Given the description of an element on the screen output the (x, y) to click on. 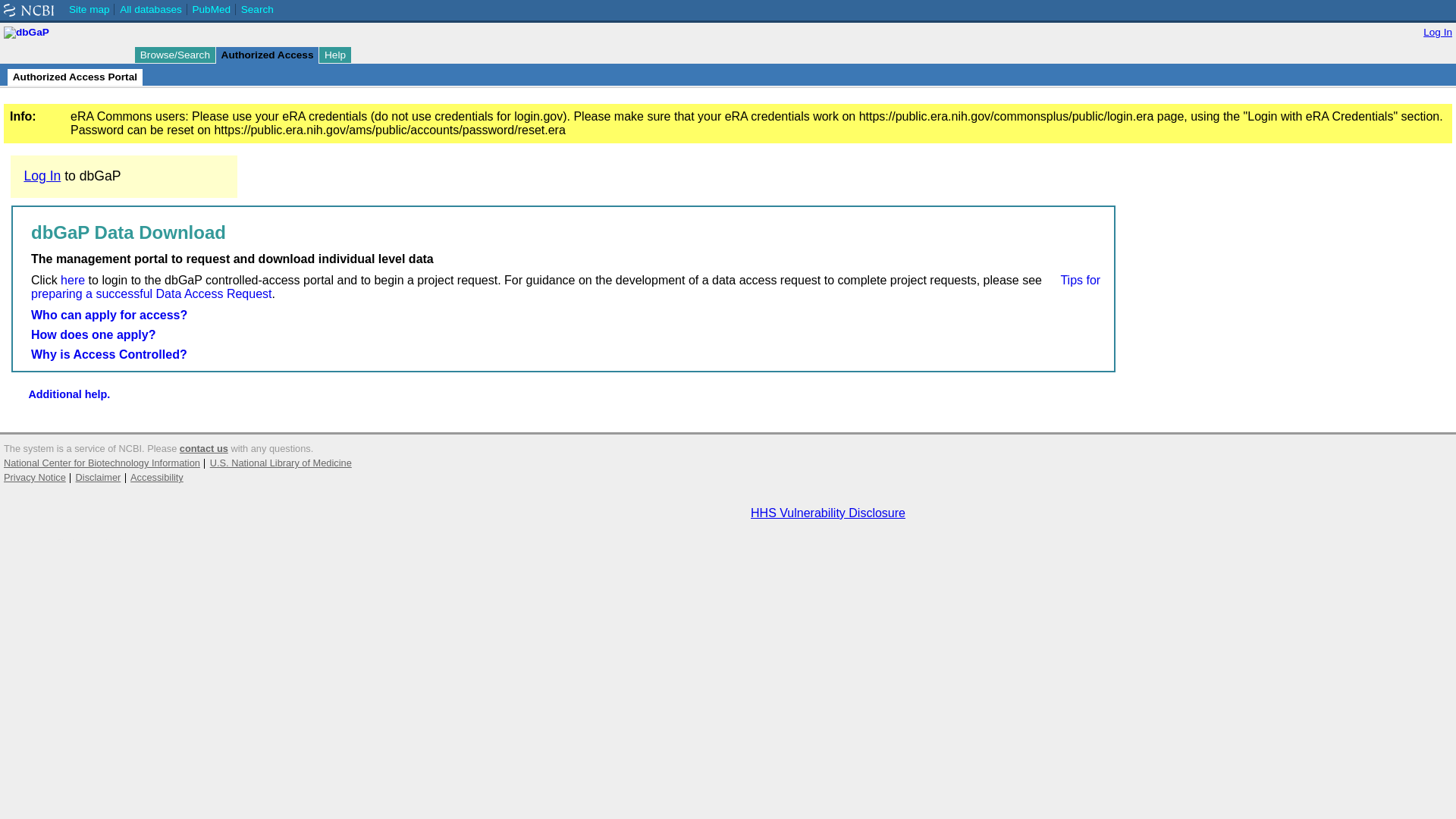
Log In (42, 175)
Authorized Access (266, 54)
Log In (1437, 31)
here (72, 279)
Authorized Access Portal (74, 76)
Tips for preparing a successful Data Access Request (565, 286)
U.S. National Library of Medicine (280, 462)
Search (257, 9)
Who can apply for access? (108, 314)
Why is Access Controlled? (108, 354)
